Given the description of an element on the screen output the (x, y) to click on. 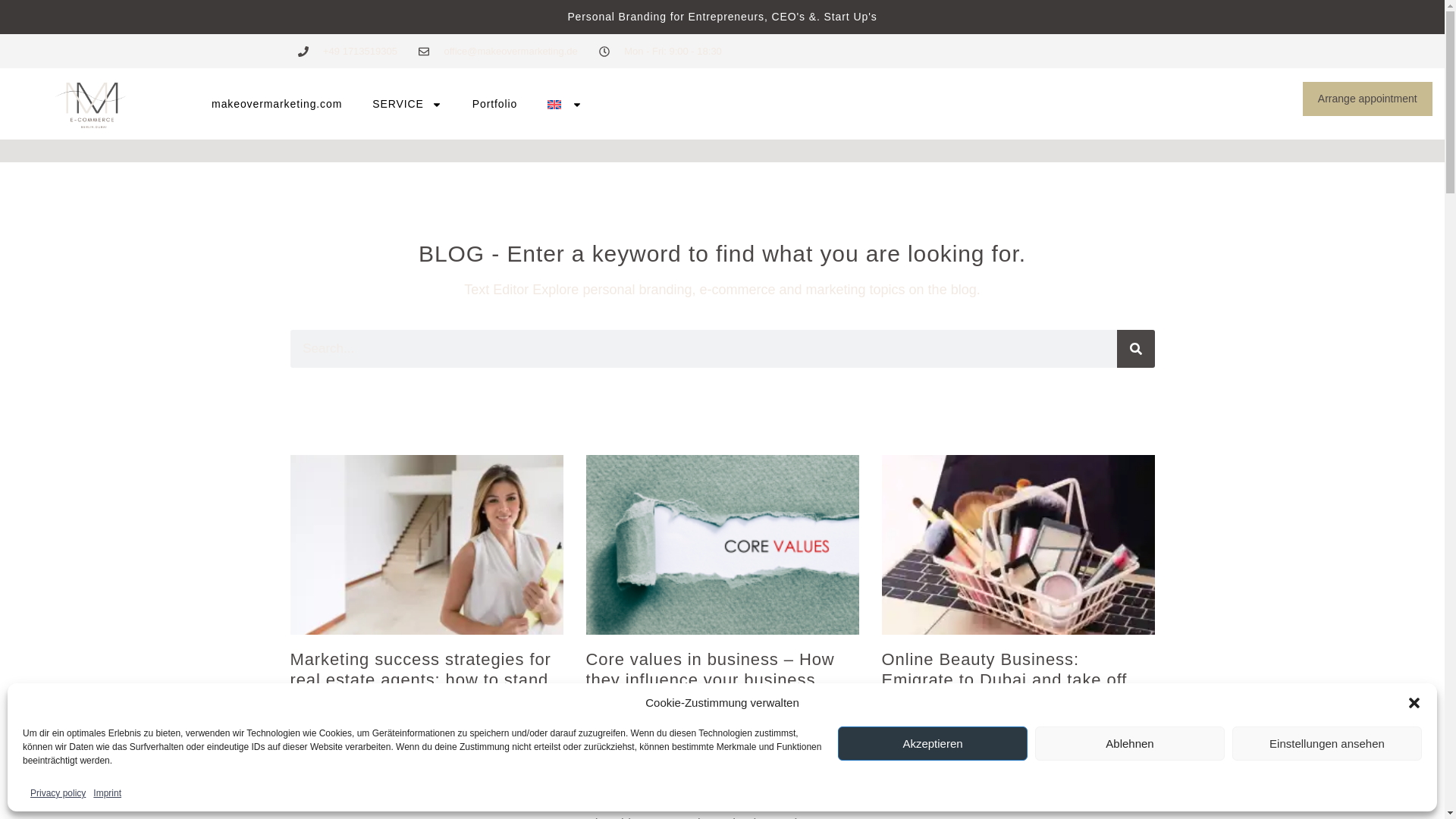
Portfolio (494, 104)
SERVICE (406, 104)
Ablehnen (1129, 743)
makeovermarketing.com (276, 104)
Akzeptieren (932, 743)
Privacy policy (57, 793)
Imprint (106, 793)
Einstellungen ansehen (1326, 743)
Arrange appointment (1367, 98)
